Given the description of an element on the screen output the (x, y) to click on. 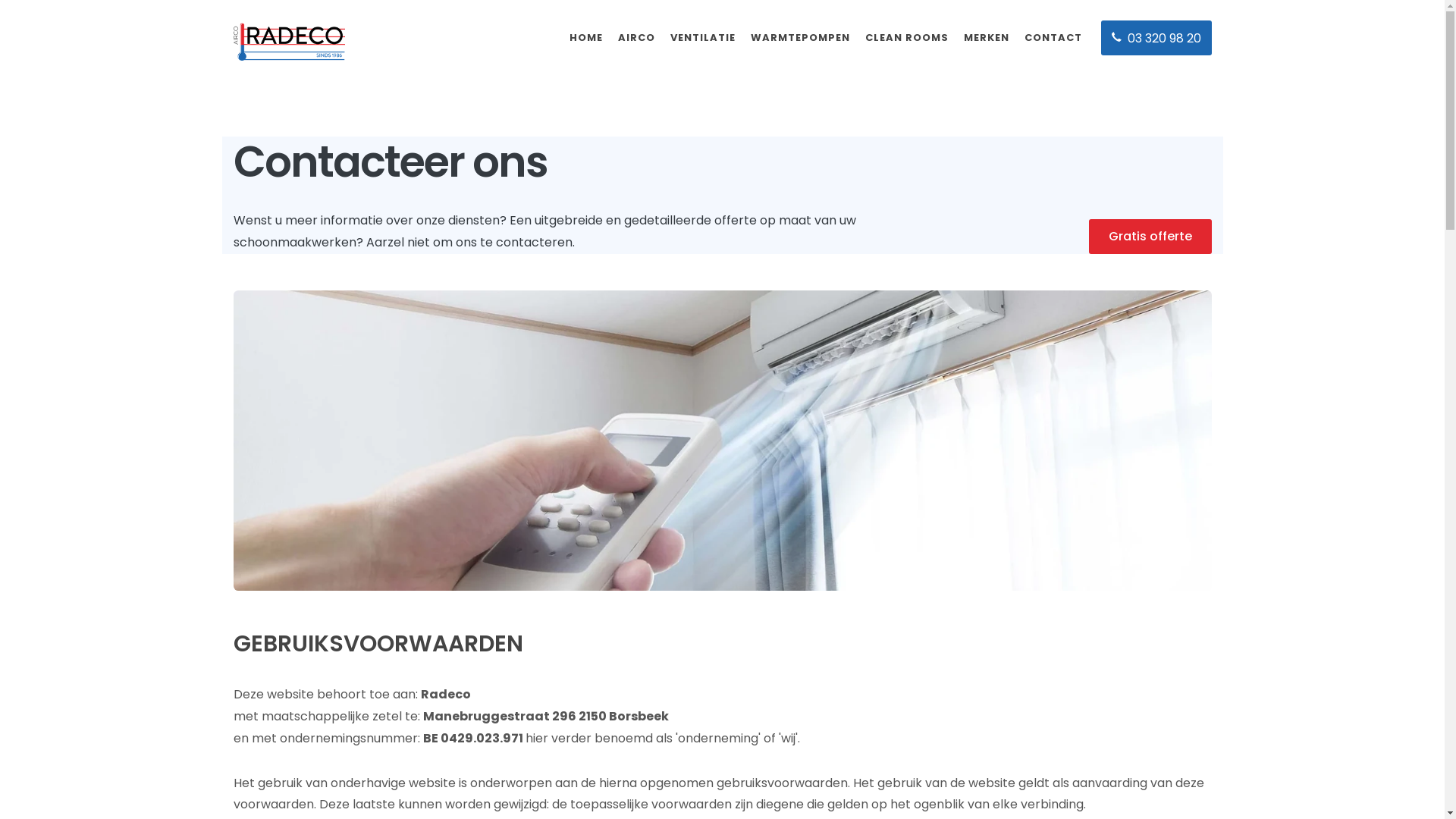
VENTILATIE Element type: text (702, 37)
CONTACT Element type: text (1052, 37)
Gratis offerte Element type: text (1149, 236)
MERKEN Element type: text (985, 37)
WARMTEPOMPEN Element type: text (800, 37)
HOME Element type: text (585, 37)
AIRCO Element type: text (635, 37)
03 320 98 20 Element type: text (1156, 37)
CLEAN ROOMS Element type: text (905, 37)
